Given the description of an element on the screen output the (x, y) to click on. 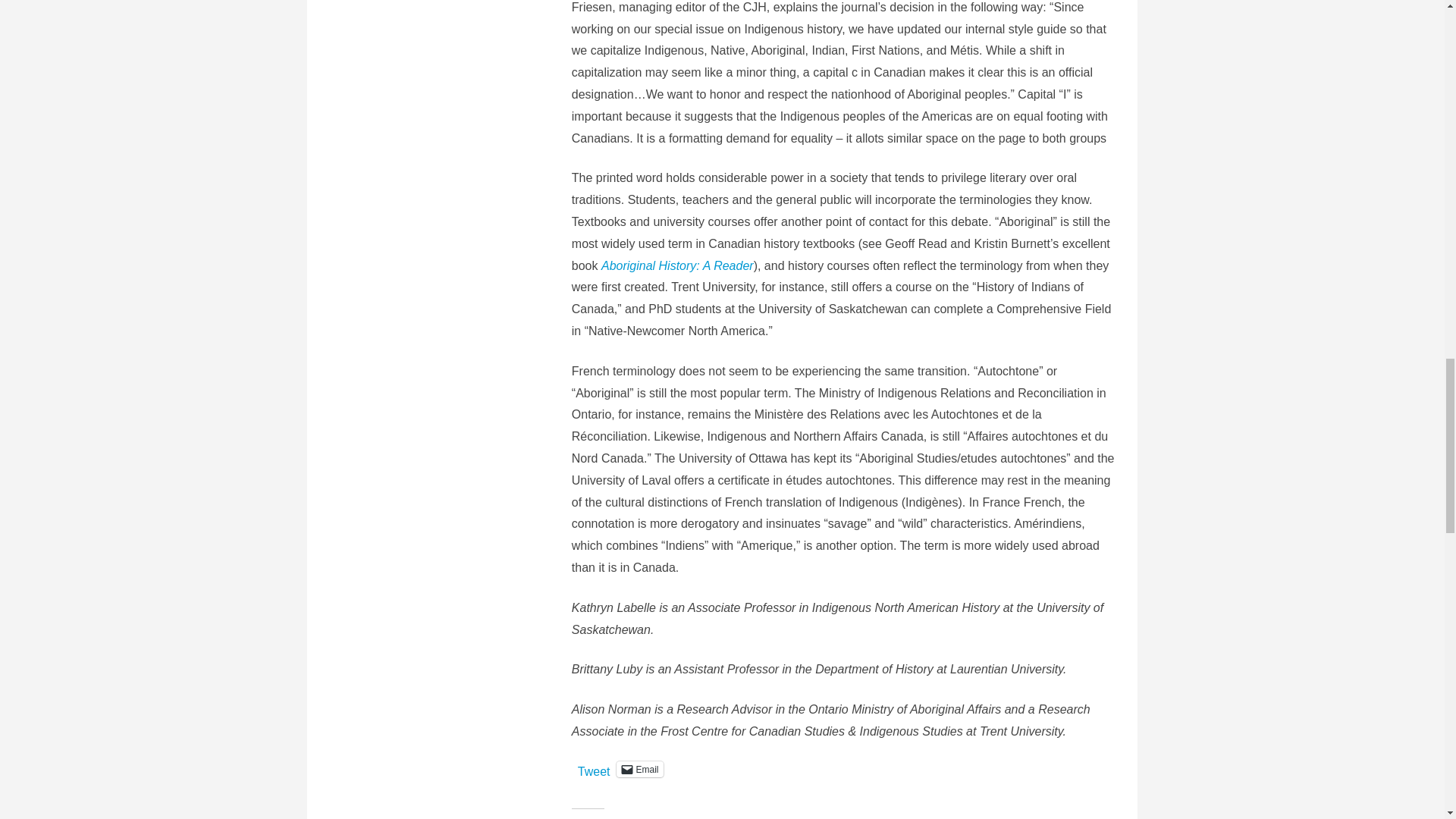
Email (638, 769)
Tweet (594, 767)
Aboriginal History: A Reader (677, 265)
Click to email a link to a friend (638, 769)
